Given the description of an element on the screen output the (x, y) to click on. 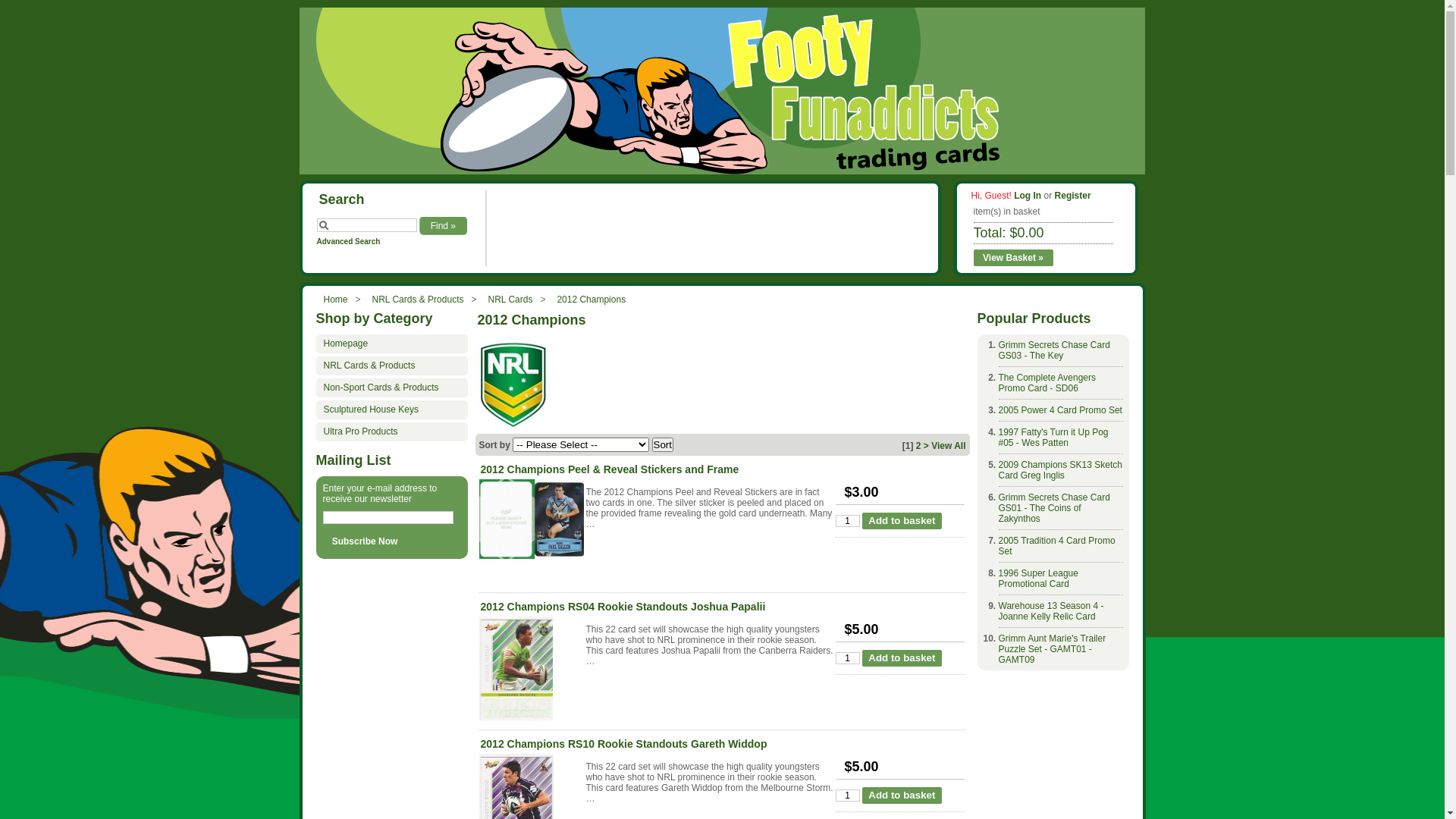
2 Element type: text (918, 445)
Search our store Element type: hover (366, 225)
The Complete Avengers Promo Card - SD06 Element type: text (1046, 382)
2012 Champions Element type: text (590, 299)
NRL Cards Element type: text (509, 299)
2012 Champions RS04 Rookie Standouts Joshua Papalii Element type: hover (531, 669)
NRL Cards & Products Element type: text (418, 299)
Homepage Element type: text (391, 343)
2005 Tradition 4 Card Promo Set Element type: text (1055, 545)
View All Element type: text (948, 445)
Log In Element type: text (1027, 195)
2012 Champions Peel & Reveal Stickers and Frame Element type: hover (531, 520)
Grimm Secrets Chase Card GS01 - The Coins of Zakynthos Element type: text (1053, 508)
1997 Fatty's Turn it Up Pog #05 - Wes Patten Element type: text (1052, 437)
2009 Champions SK13 Sketch Card Greg Inglis Element type: text (1059, 469)
Register Element type: text (1072, 195)
2012 Champions RS04 Rookie Standouts Joshua Papalii Element type: text (622, 606)
Ultra Pro Products Element type: text (391, 431)
1996 Super League Promotional Card Element type: text (1037, 578)
Warehouse 13 Season 4 - Joanne Kelly Relic Card Element type: text (1050, 610)
Email Element type: hover (388, 517)
Add to basket Element type: text (901, 657)
2005 Power 4 Card Promo Set Element type: text (1059, 409)
2012 Champions Peel & Reveal Stickers and Frame Element type: text (609, 469)
2012 Champions RS10 Rookie Standouts Gareth Widdop Element type: text (623, 743)
NRL Cards & Products Element type: text (391, 365)
> Element type: text (925, 445)
Subscribe Now Element type: text (365, 541)
Sort Element type: text (662, 444)
Grimm Secrets Chase Card GS03 - The Key Element type: text (1053, 349)
Home Element type: text (335, 299)
Non-Sport Cards & Products Element type: text (391, 387)
Add to basket Element type: text (901, 520)
Sculptured House Keys Element type: text (391, 409)
Add to basket Element type: text (901, 795)
Grimm Aunt Marie's Trailer Puzzle Set - GAMT01 - GAMT09 Element type: text (1051, 649)
Advanced Search Element type: text (348, 241)
